Given the description of an element on the screen output the (x, y) to click on. 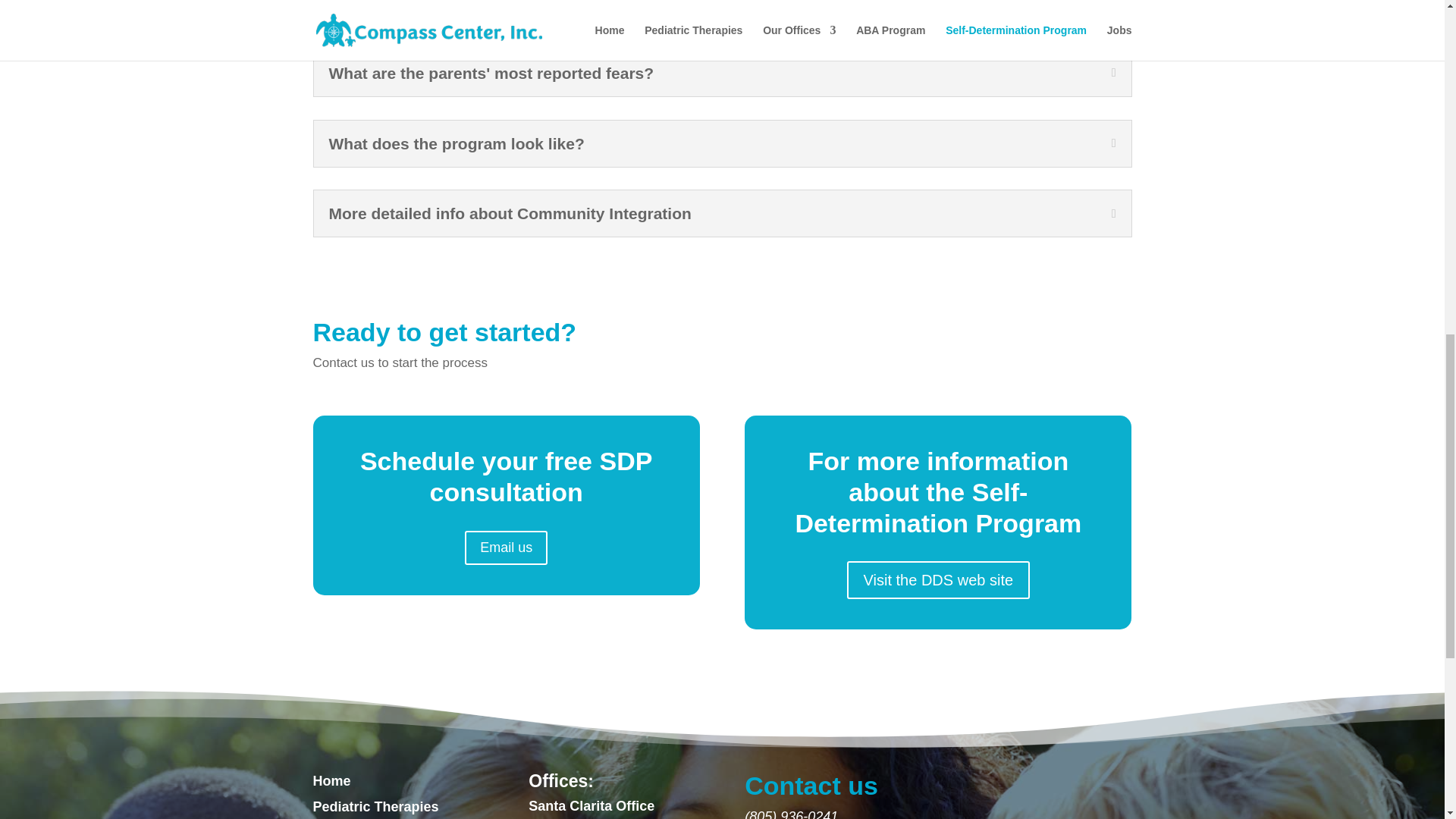
Visit the DDS web site (938, 579)
Pediatric Therapies (375, 806)
Santa Clarita Office (590, 806)
Email us (505, 547)
Home (331, 780)
